Given the description of an element on the screen output the (x, y) to click on. 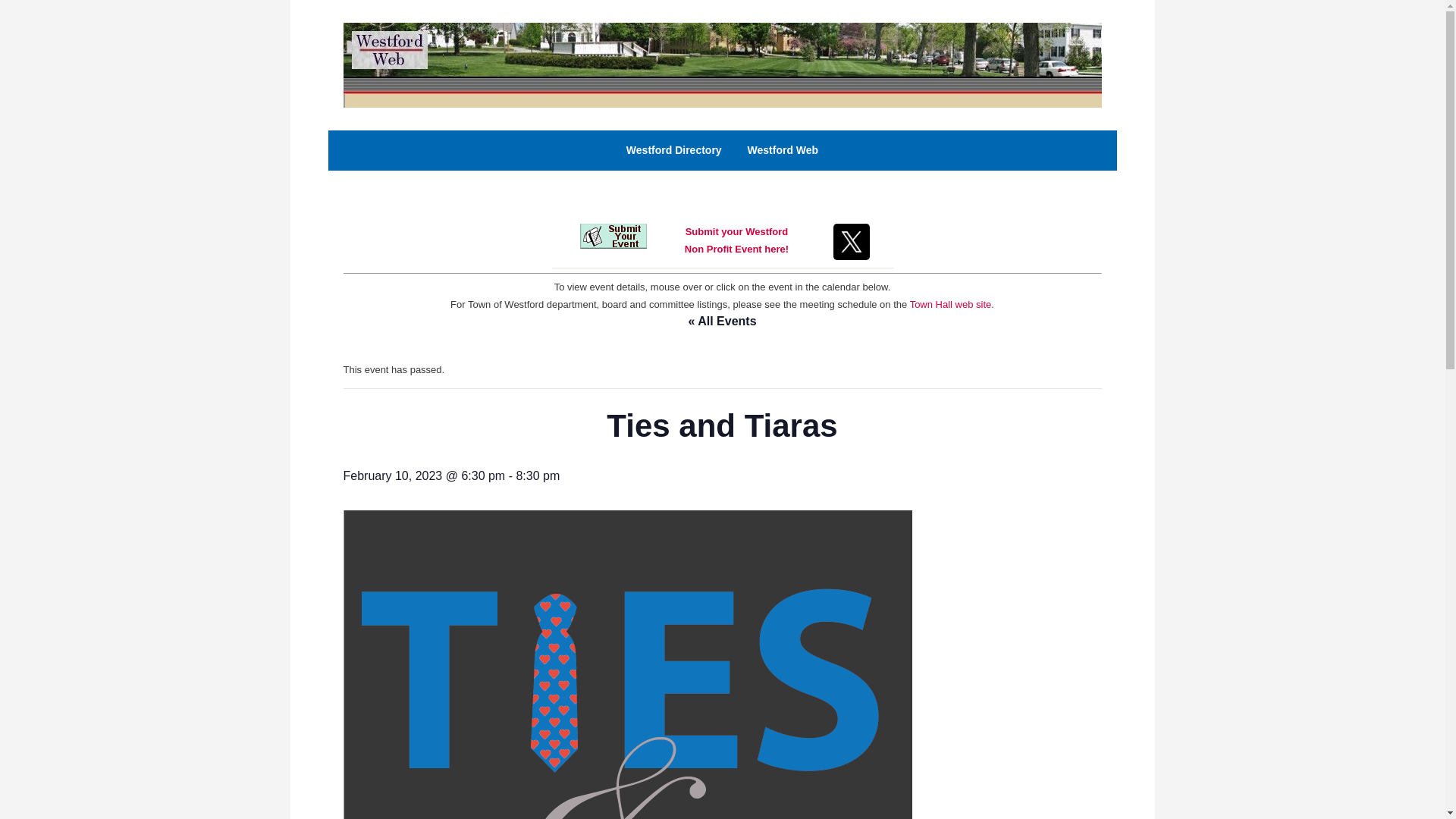
Westford Web (736, 240)
Westford Directory (783, 150)
Listing events for Westford, MA only non profit groups (674, 150)
Town Hall web site (721, 63)
